Given the description of an element on the screen output the (x, y) to click on. 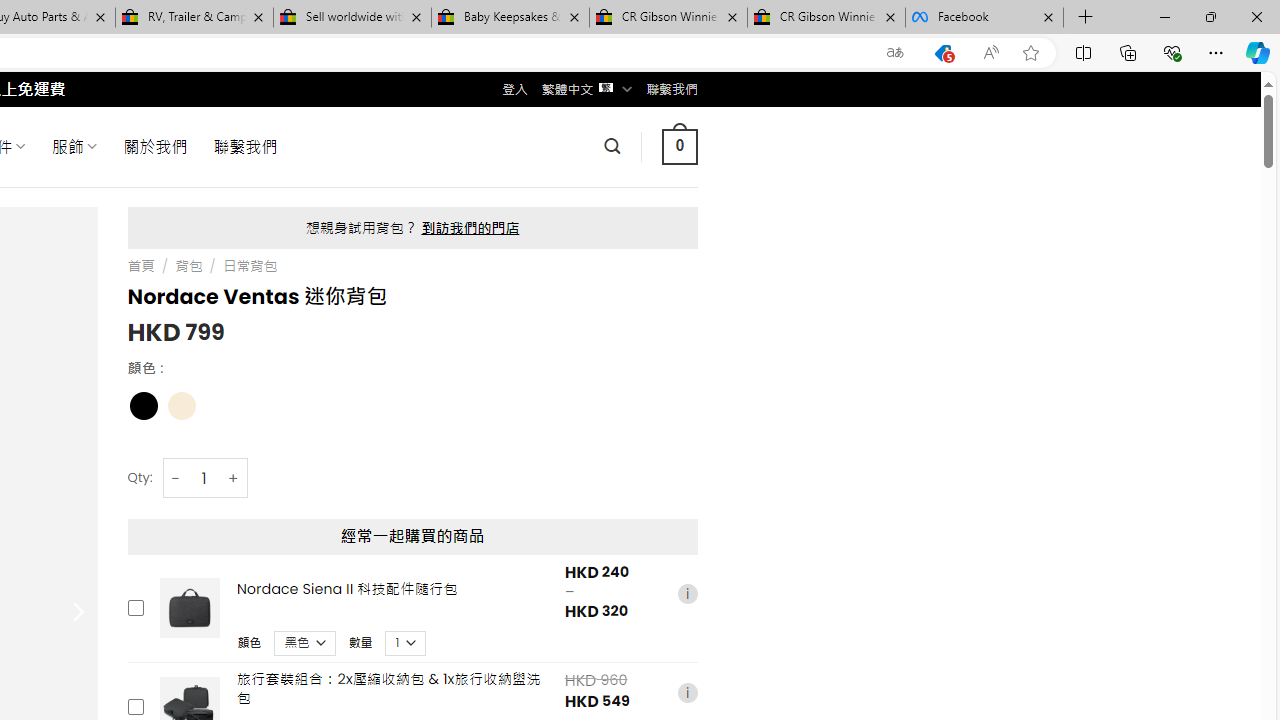
i (687, 691)
Add this product to cart (134, 707)
Sell worldwide with eBay (352, 17)
Class: upsell-v2-product-upsell-variable-product-qty-select (406, 642)
